Given the description of an element on the screen output the (x, y) to click on. 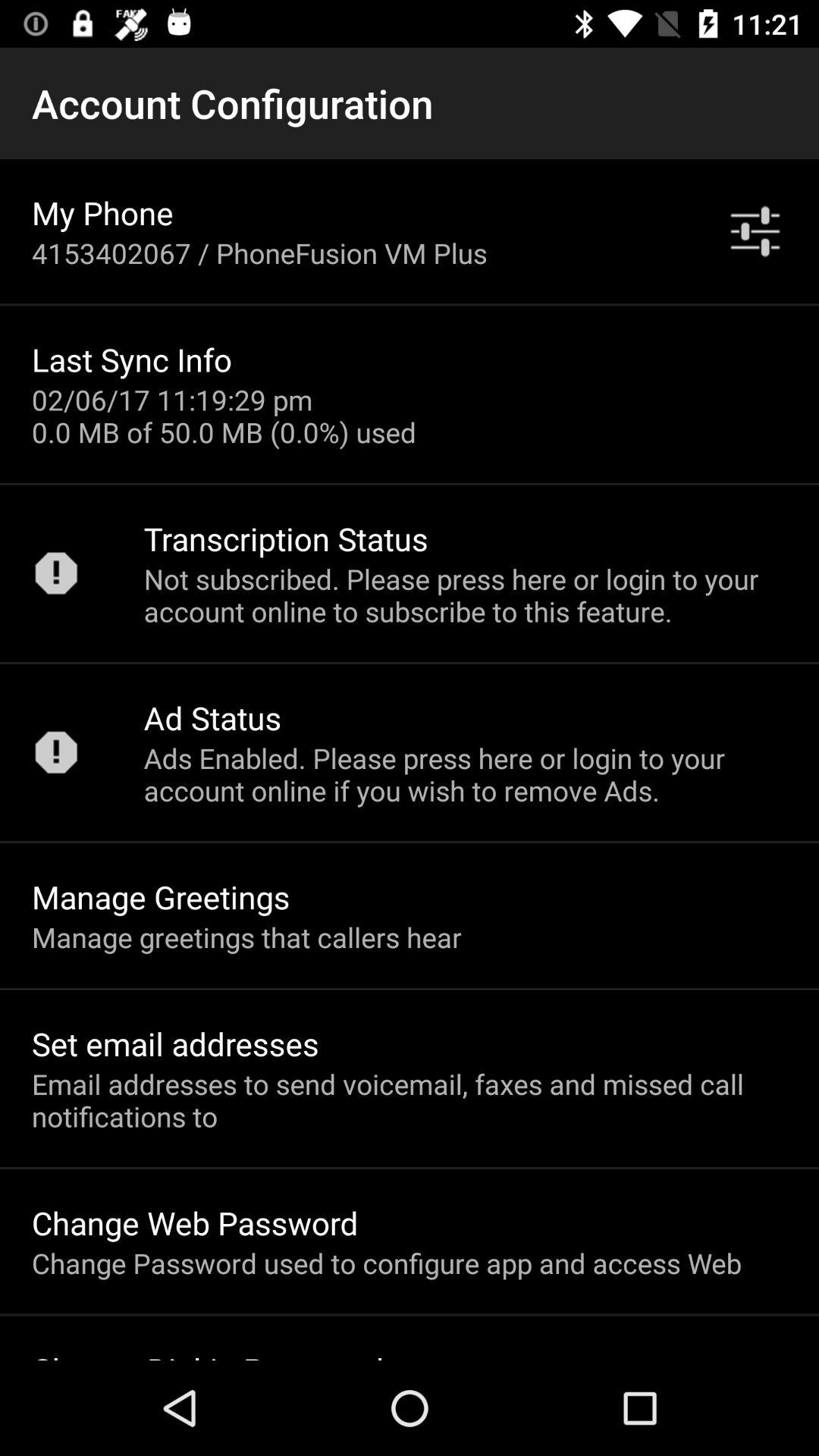
scroll until the transcription status icon (285, 538)
